Given the description of an element on the screen output the (x, y) to click on. 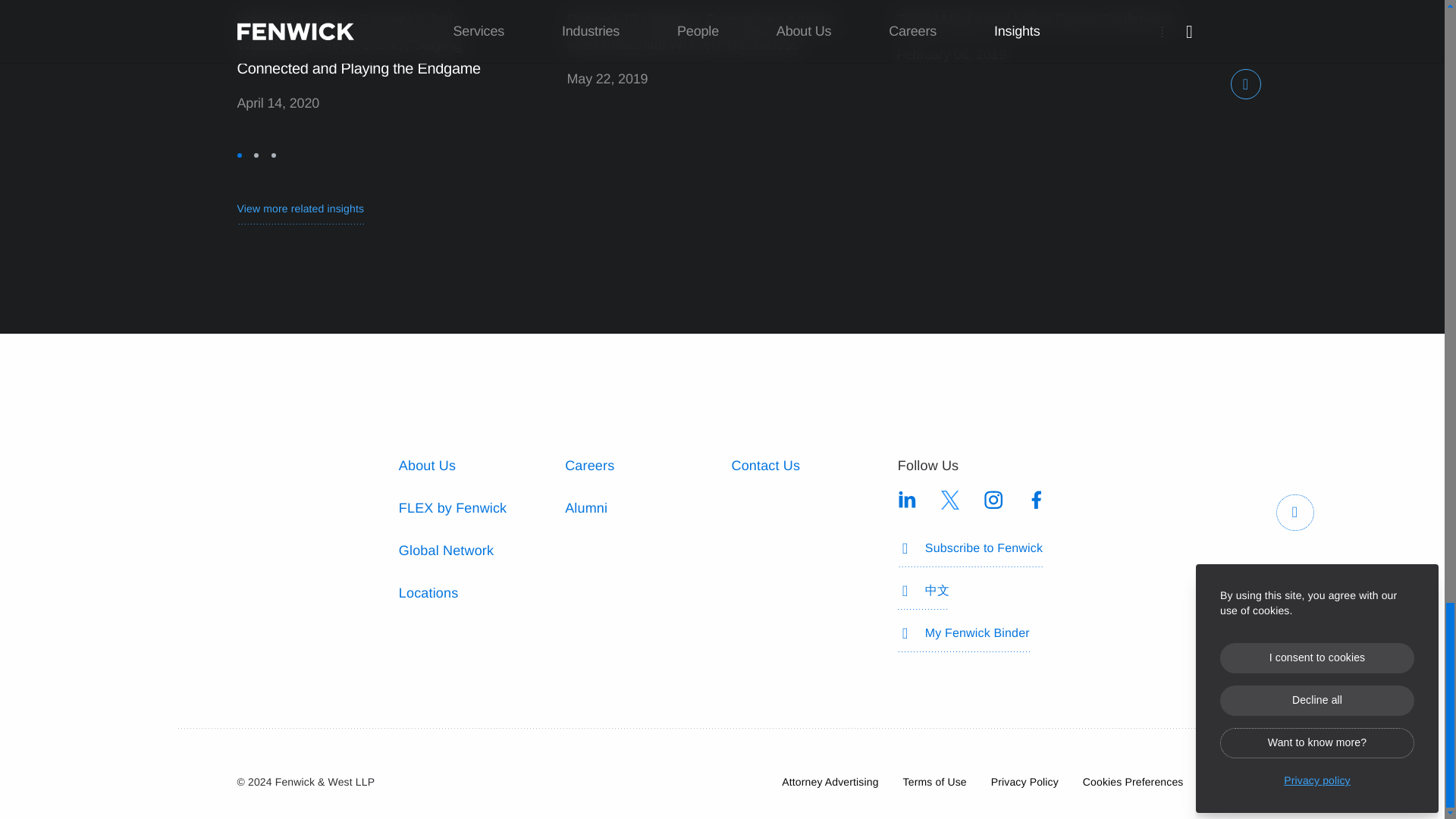
Careers (589, 465)
Global Network (445, 549)
About Us (426, 465)
Contact Us (764, 465)
Alumni (585, 507)
Locations (428, 592)
FLEX by Fenwick (452, 507)
